Given the description of an element on the screen output the (x, y) to click on. 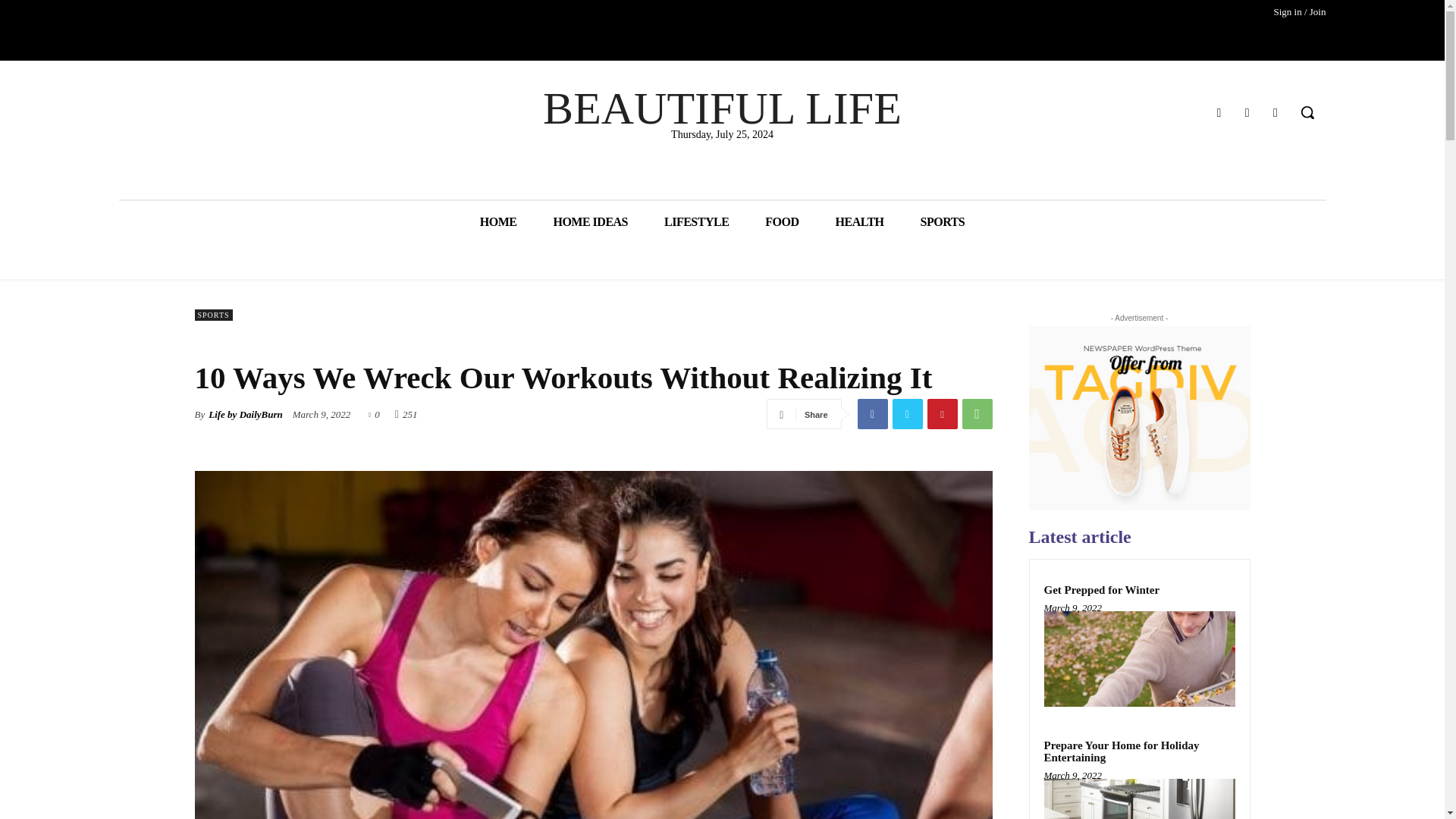
Life by DailyBurn (245, 414)
SPORTS (943, 221)
FOOD (781, 221)
Twitter (906, 413)
HEALTH (859, 221)
WhatsApp (975, 413)
Pinterest (941, 413)
BEAUTIFUL LIFE (721, 108)
LIFESTYLE (696, 221)
Youtube (1275, 112)
Twitter (1246, 112)
HOME IDEAS (590, 221)
0 (374, 413)
HOME (498, 221)
Facebook (871, 413)
